Given the description of an element on the screen output the (x, y) to click on. 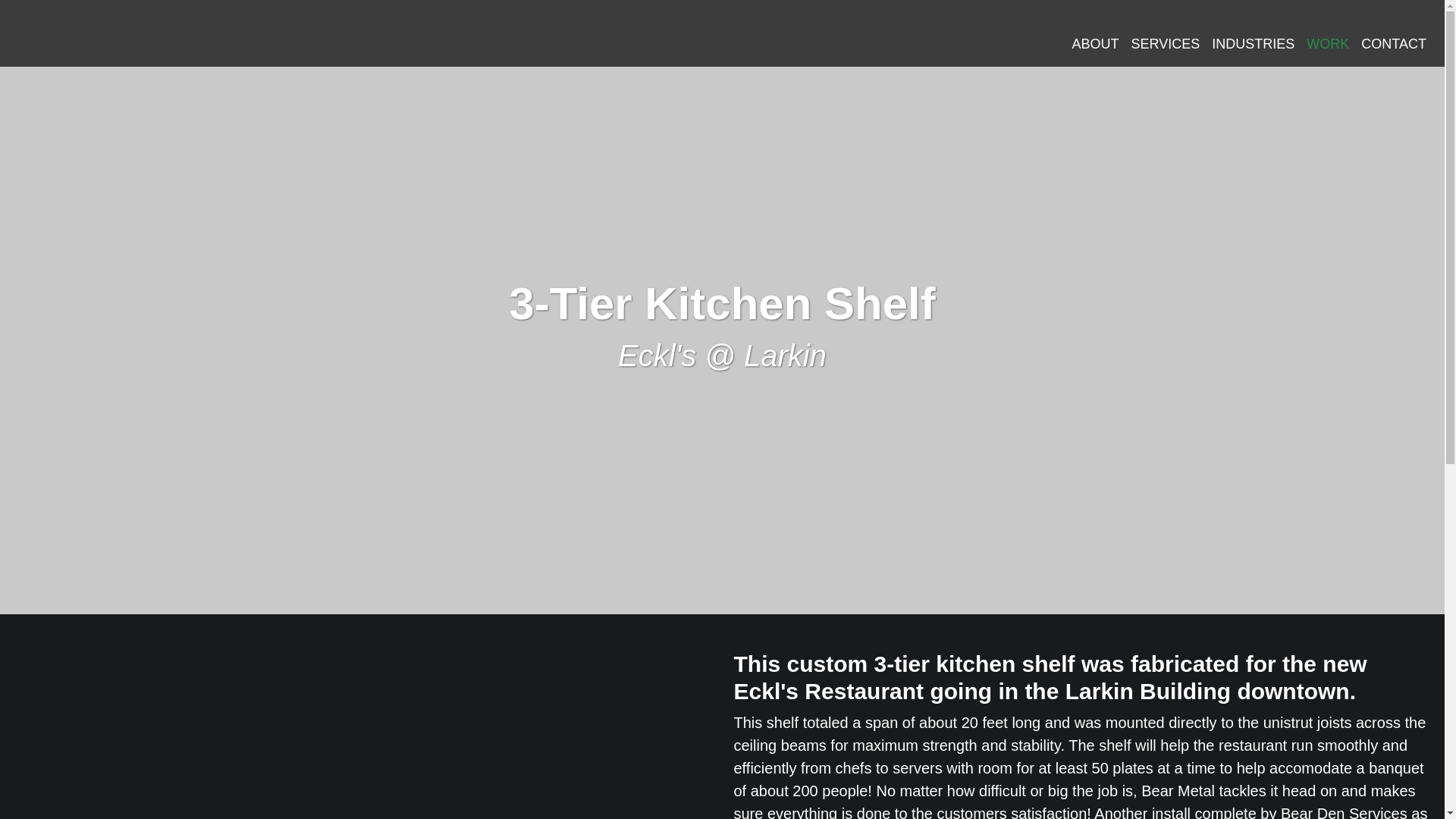
WORK (1327, 43)
Bear Metal Works (163, 35)
INDUSTRIES (1252, 43)
ABOUT (1095, 43)
SERVICES (1166, 43)
CONTACT (1393, 43)
